Given the description of an element on the screen output the (x, y) to click on. 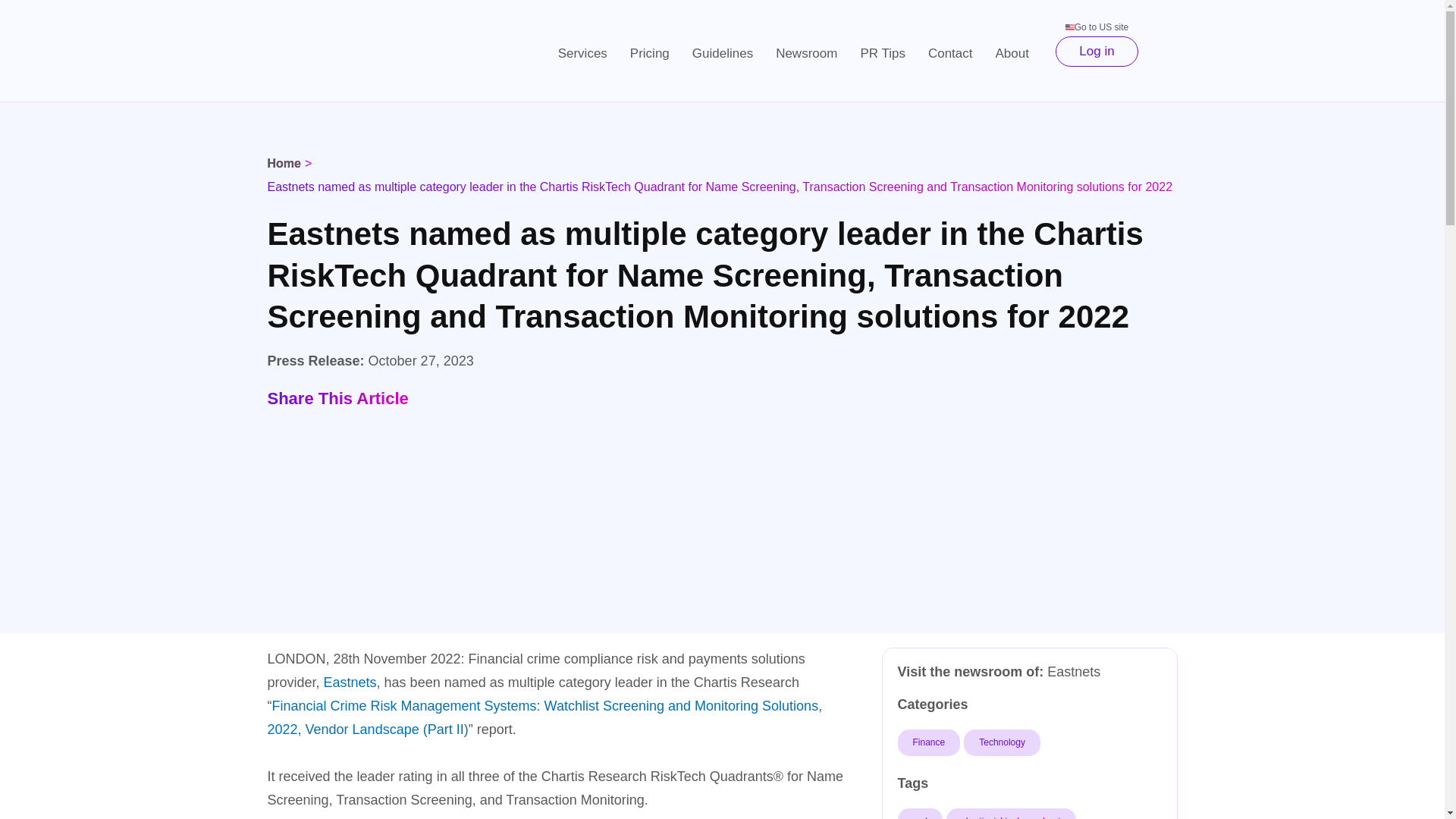
Pricing (649, 53)
Log in (1096, 51)
PR Tips (882, 53)
About (1012, 53)
Guidelines (722, 53)
Newsroom (806, 53)
Services (582, 53)
Contact (950, 53)
Go to US site (1096, 27)
